Given the description of an element on the screen output the (x, y) to click on. 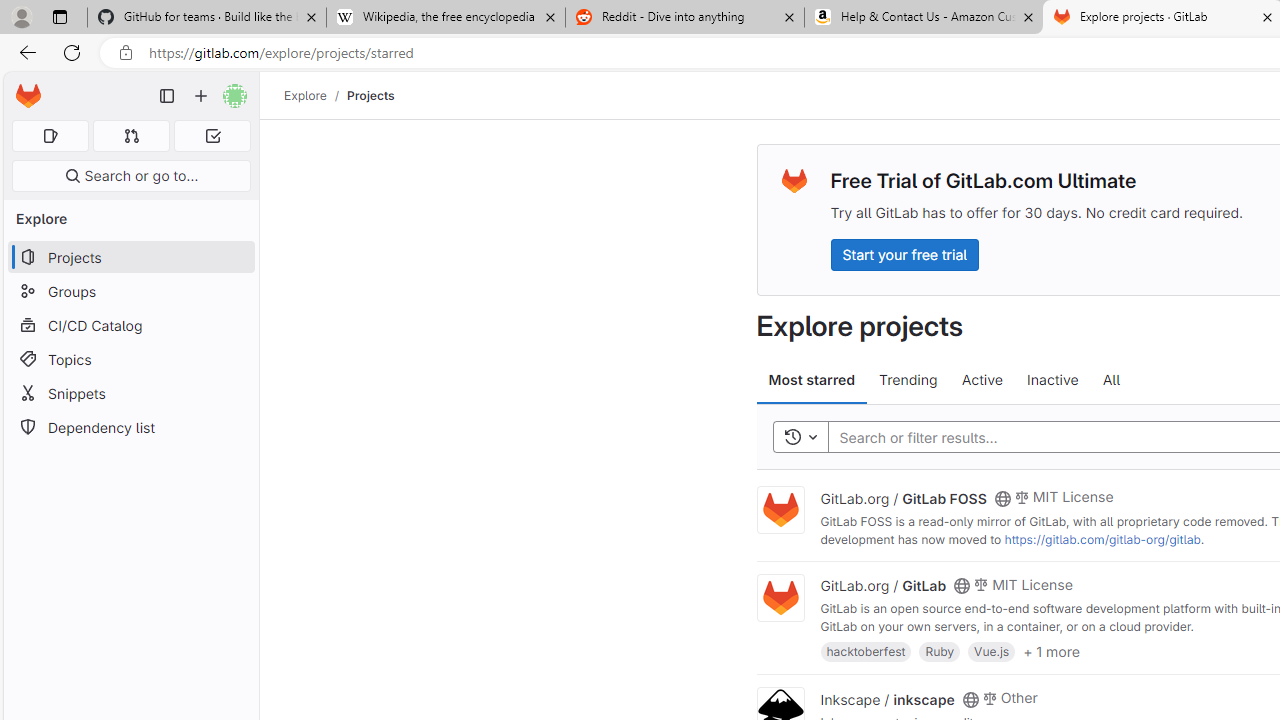
Projects (370, 95)
Dependency list (130, 427)
Trending (907, 379)
Dependency list (130, 427)
Create new... (201, 96)
To-Do list 0 (212, 136)
Class: project (780, 597)
Explore (305, 95)
Projects (370, 95)
Merge requests 0 (131, 136)
Most starred (811, 379)
